Given the description of an element on the screen output the (x, y) to click on. 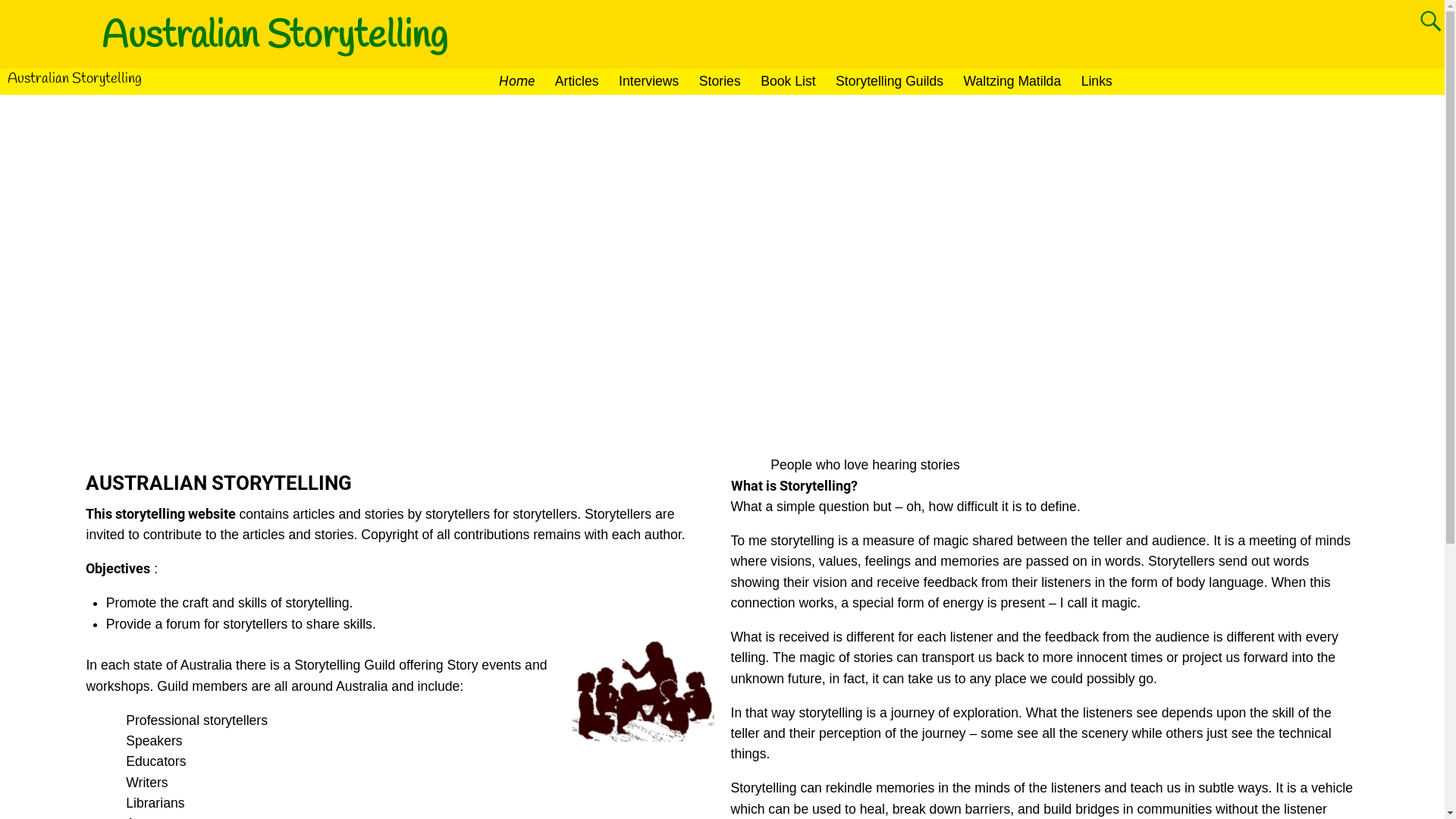
Articles Element type: text (576, 81)
Waltzing Matilda Element type: text (1011, 81)
Australian Storytelling Element type: text (274, 36)
Home Element type: text (516, 81)
Book List Element type: text (787, 81)
Links Element type: text (1096, 81)
Australian Storytelling Element type: text (74, 78)
Storytelling Guilds Element type: text (889, 81)
Stories Element type: text (719, 81)
Interviews Element type: text (648, 81)
